Given the description of an element on the screen output the (x, y) to click on. 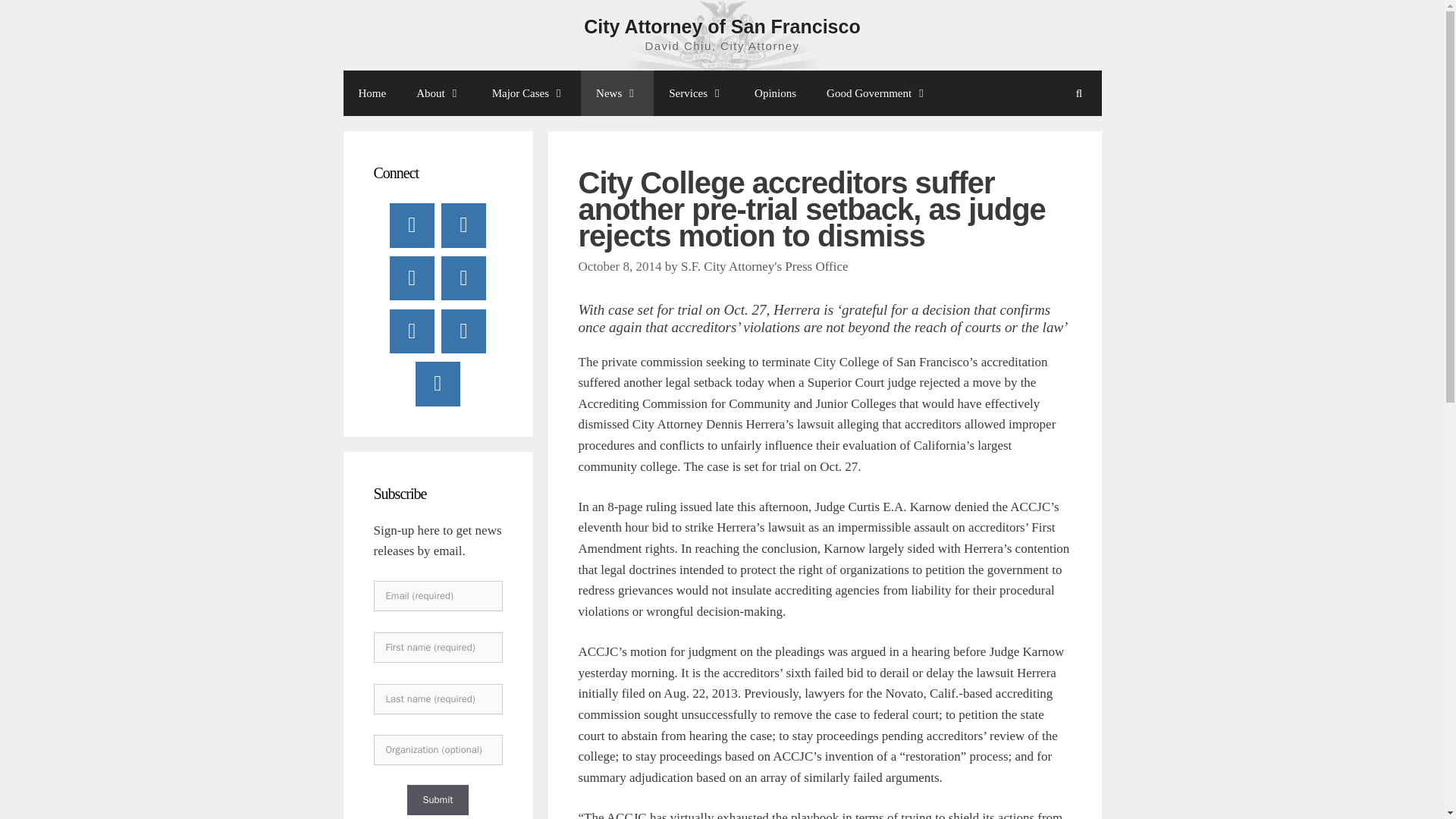
Services (696, 92)
City Attorney of San Francisco on Linkedin (462, 278)
Major Cases (528, 92)
City Attorney of San Francisco (721, 25)
View all posts by S.F. City Attorney's Press Office (764, 266)
About (439, 92)
City Attorney of San Francisco on Rss (437, 383)
City Attorney of San Francisco on Youtube (411, 278)
City Attorney of San Francisco on X Twitter (462, 225)
City Attorney of San Francisco on Instagram (411, 330)
Submit (437, 799)
City Attorney of San Francisco on Envelope (462, 330)
Home (371, 92)
City Attorney of San Francisco on Facebook (411, 225)
News (616, 92)
